Given the description of an element on the screen output the (x, y) to click on. 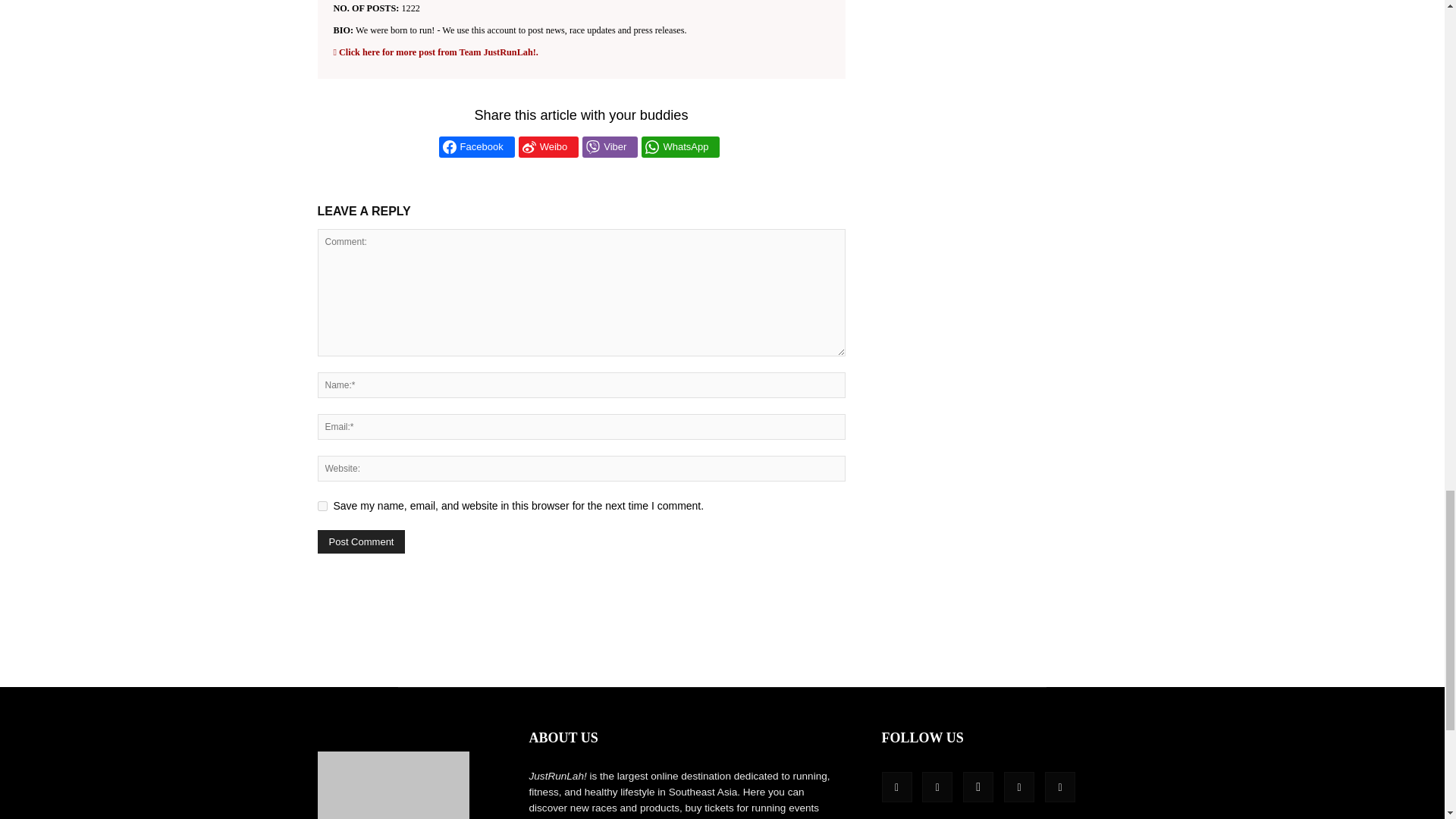
Post Comment (360, 541)
yes (321, 506)
